Given the description of an element on the screen output the (x, y) to click on. 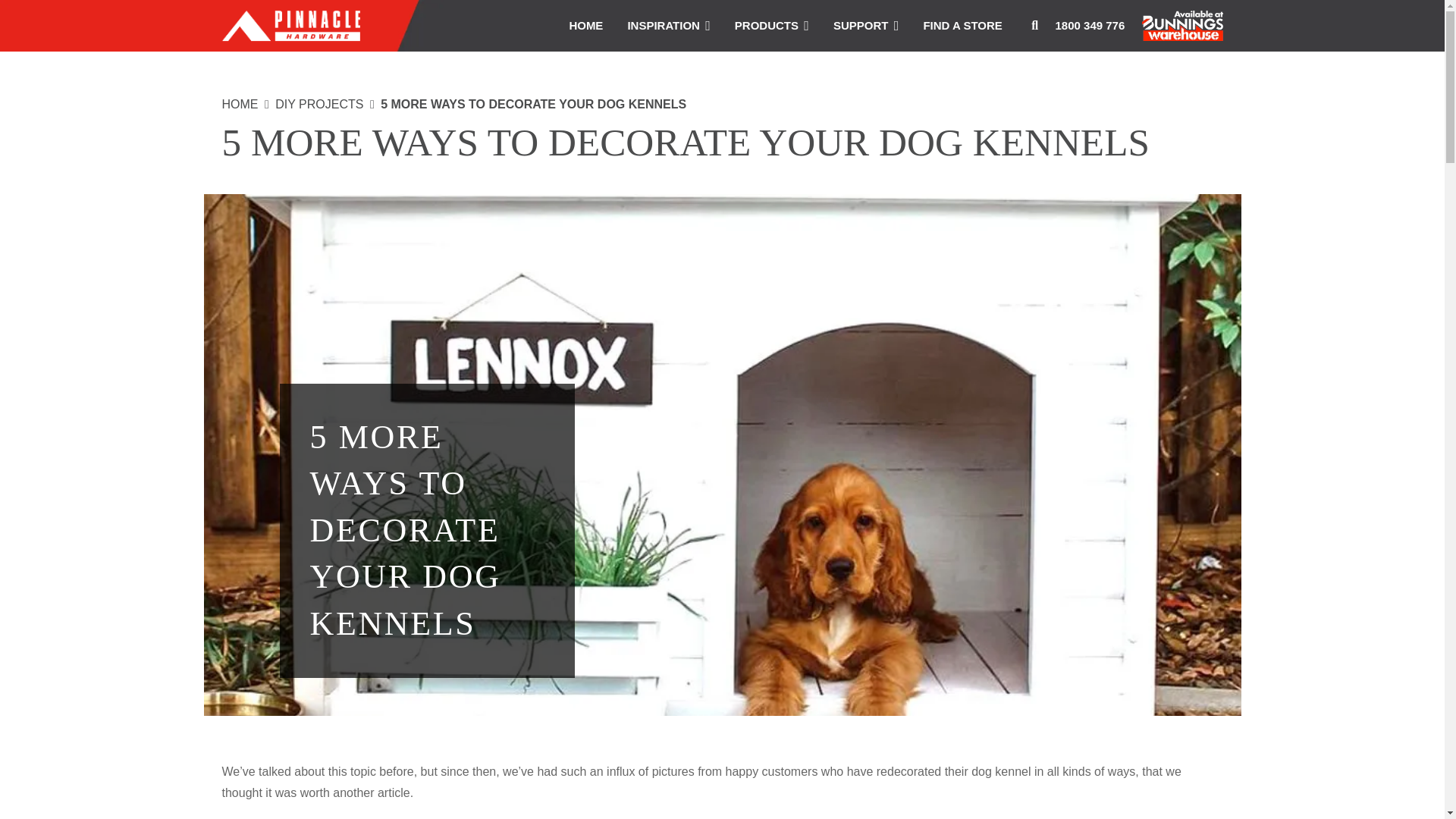
PRODUCTS (771, 25)
HOME (585, 25)
INSPIRATION (668, 25)
